Given the description of an element on the screen output the (x, y) to click on. 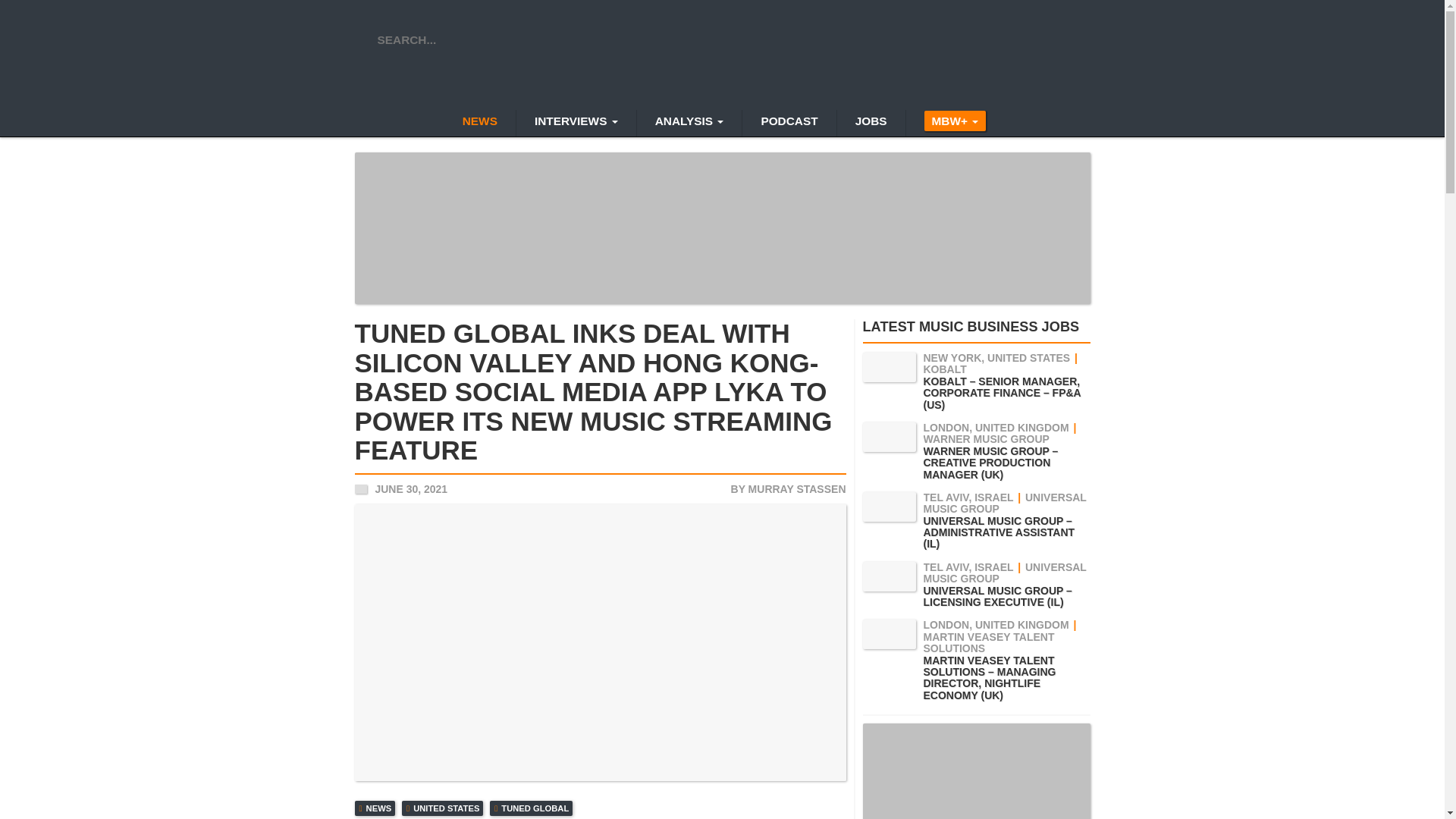
JOBS (870, 122)
ANALYSIS (689, 122)
INTERVIEWS (575, 122)
MURRAY STASSEN (796, 488)
NEWS (479, 122)
TUNED GLOBAL (530, 807)
Music Business Worldwide (722, 56)
UNITED STATES (442, 807)
NEWS (375, 807)
PODCAST (788, 122)
